Given the description of an element on the screen output the (x, y) to click on. 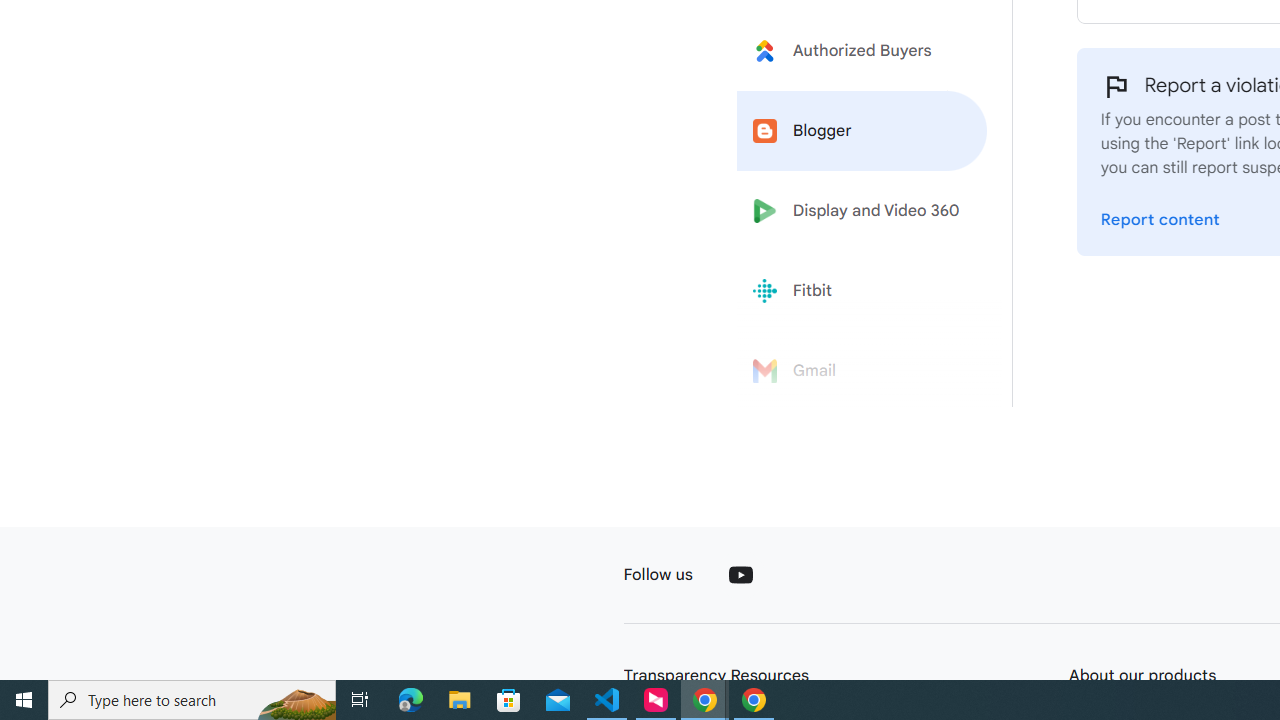
Visual Studio Code - 1 running window (607, 699)
Start (24, 699)
Fitbit (862, 291)
File Explorer (460, 699)
Gmail (862, 371)
Google Chrome - 2 running windows (704, 699)
Learn more about Authorized Buyers (862, 50)
Task View (359, 699)
Blogger (862, 130)
Display and Video 360 (862, 211)
Learn more about Authorized Buyers (862, 50)
Search highlights icon opens search home window (295, 699)
